Given the description of an element on the screen output the (x, y) to click on. 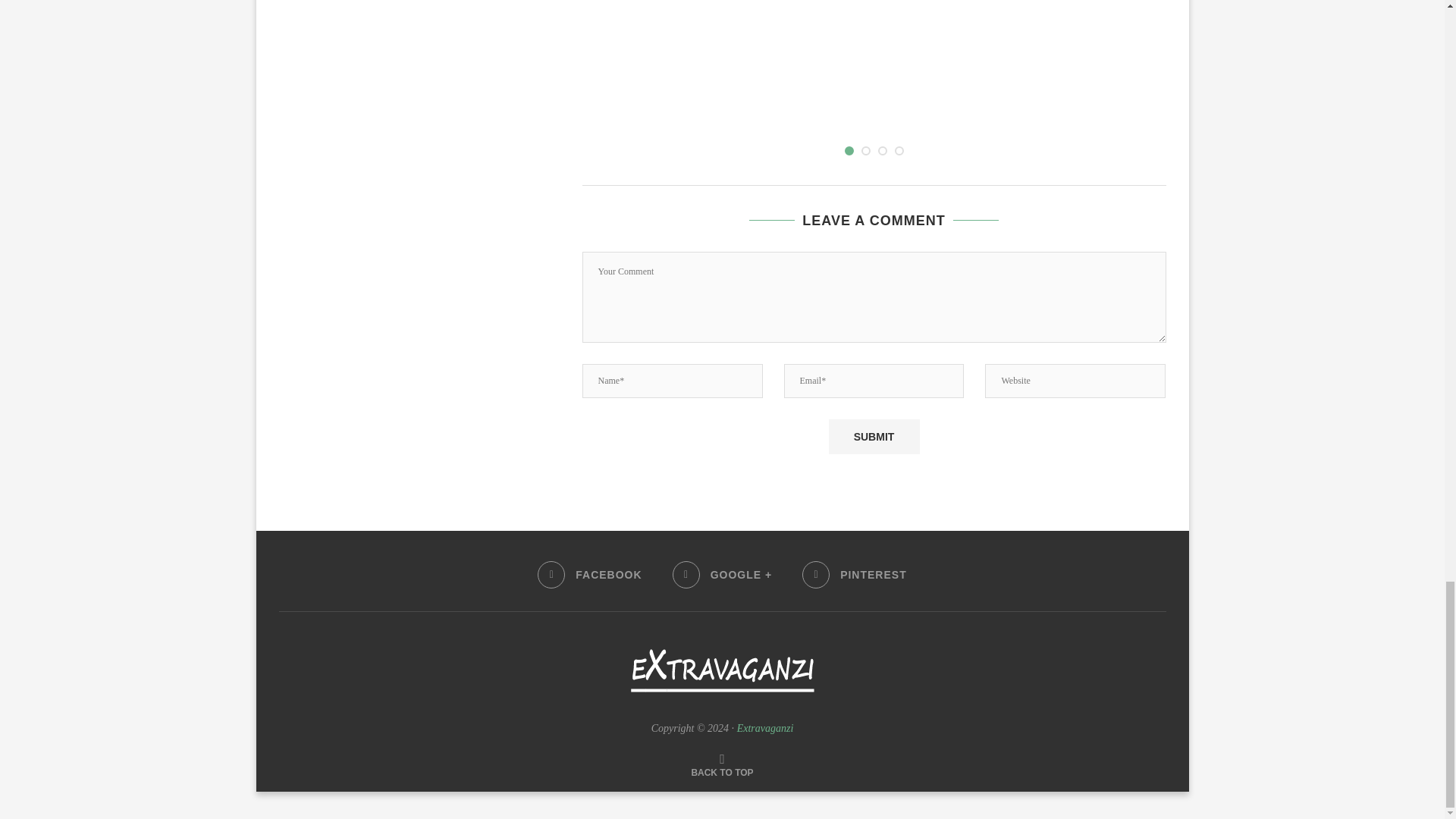
Submit (873, 436)
